Given the description of an element on the screen output the (x, y) to click on. 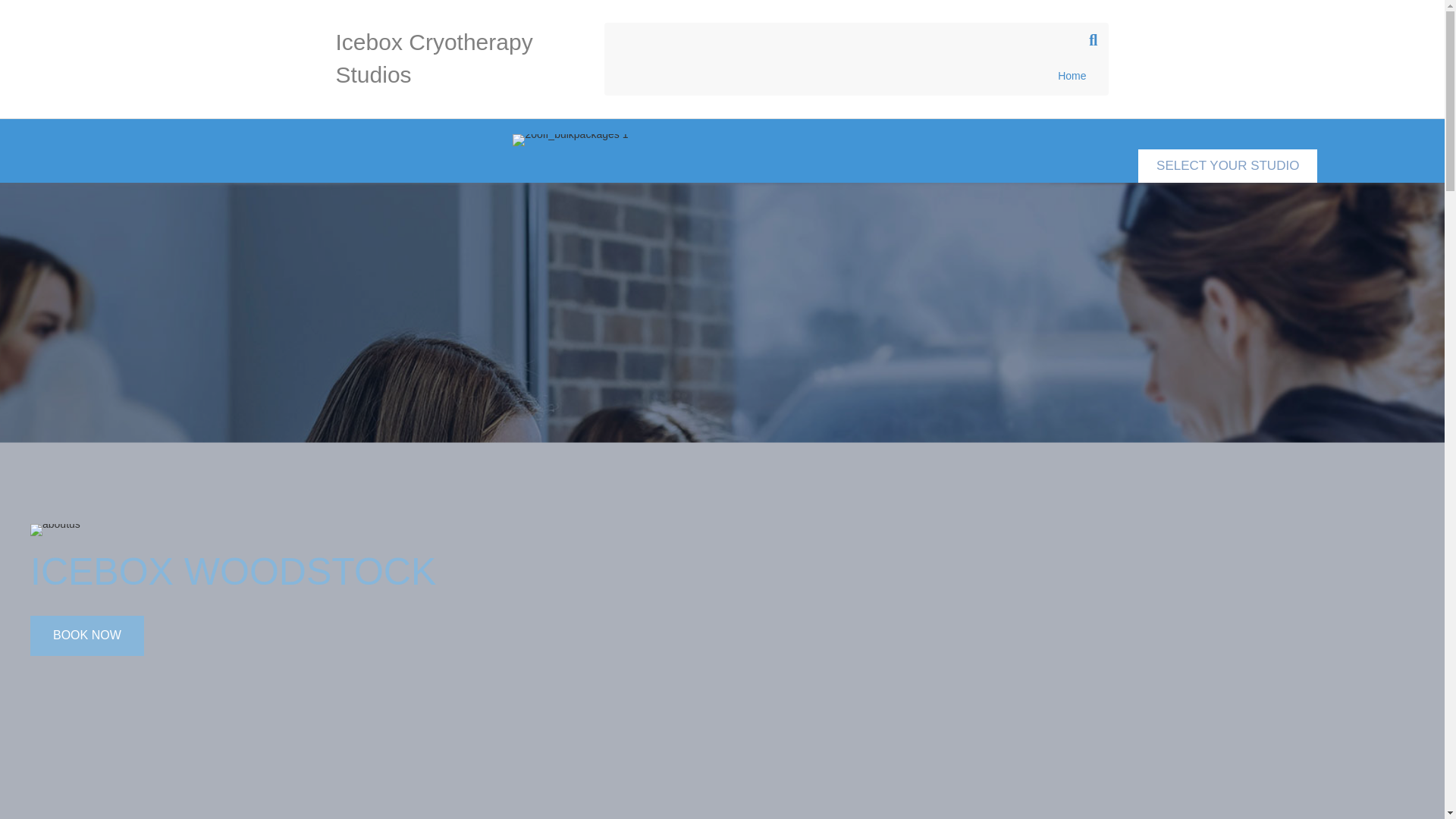
Icebox Cryotherapy Studios (457, 58)
aboutus (55, 530)
SELECT YOUR STUDIO (1227, 165)
Home (1071, 76)
BOOK NOW (87, 635)
